Given the description of an element on the screen output the (x, y) to click on. 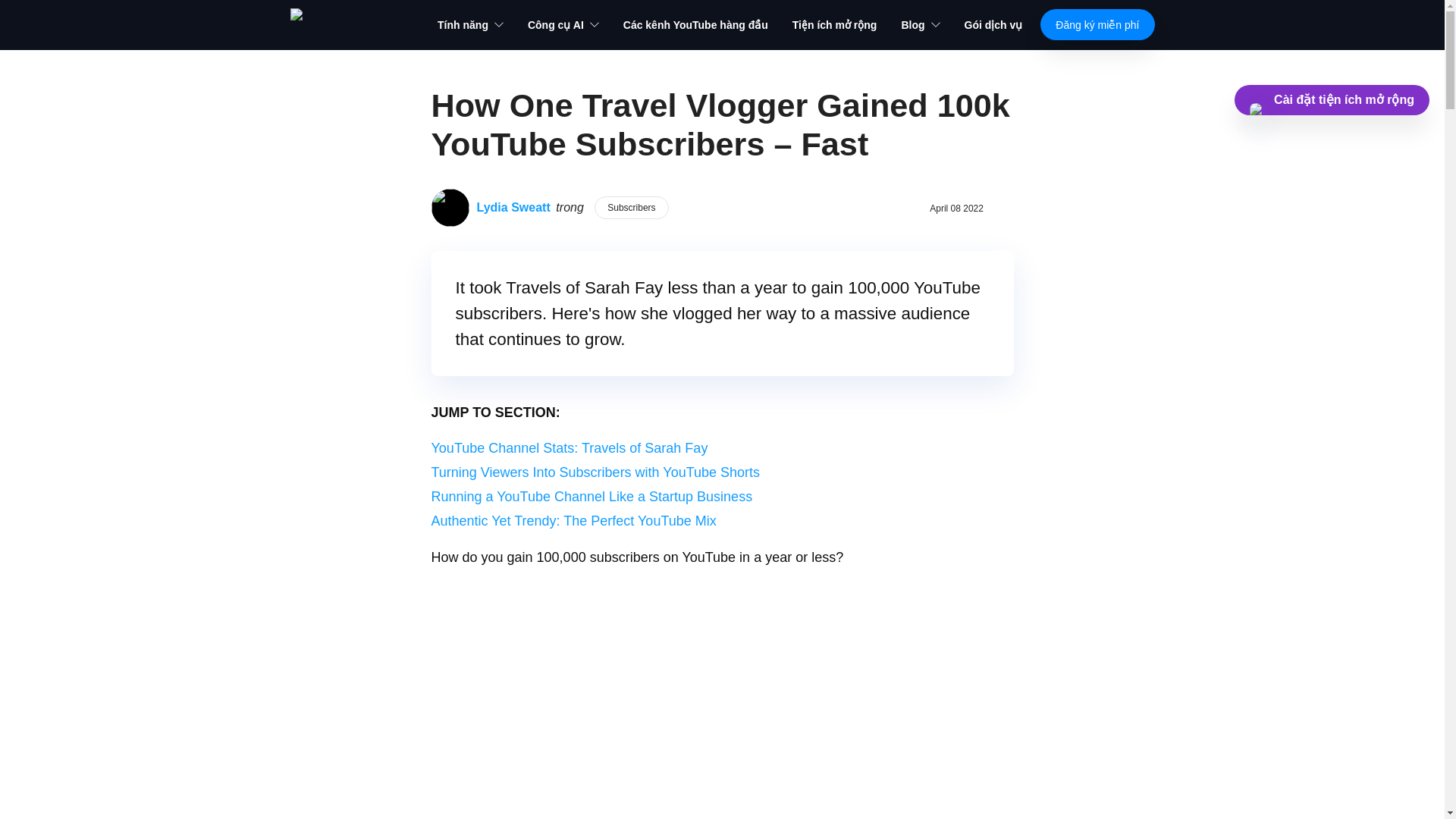
Blog (920, 24)
